Given the description of an element on the screen output the (x, y) to click on. 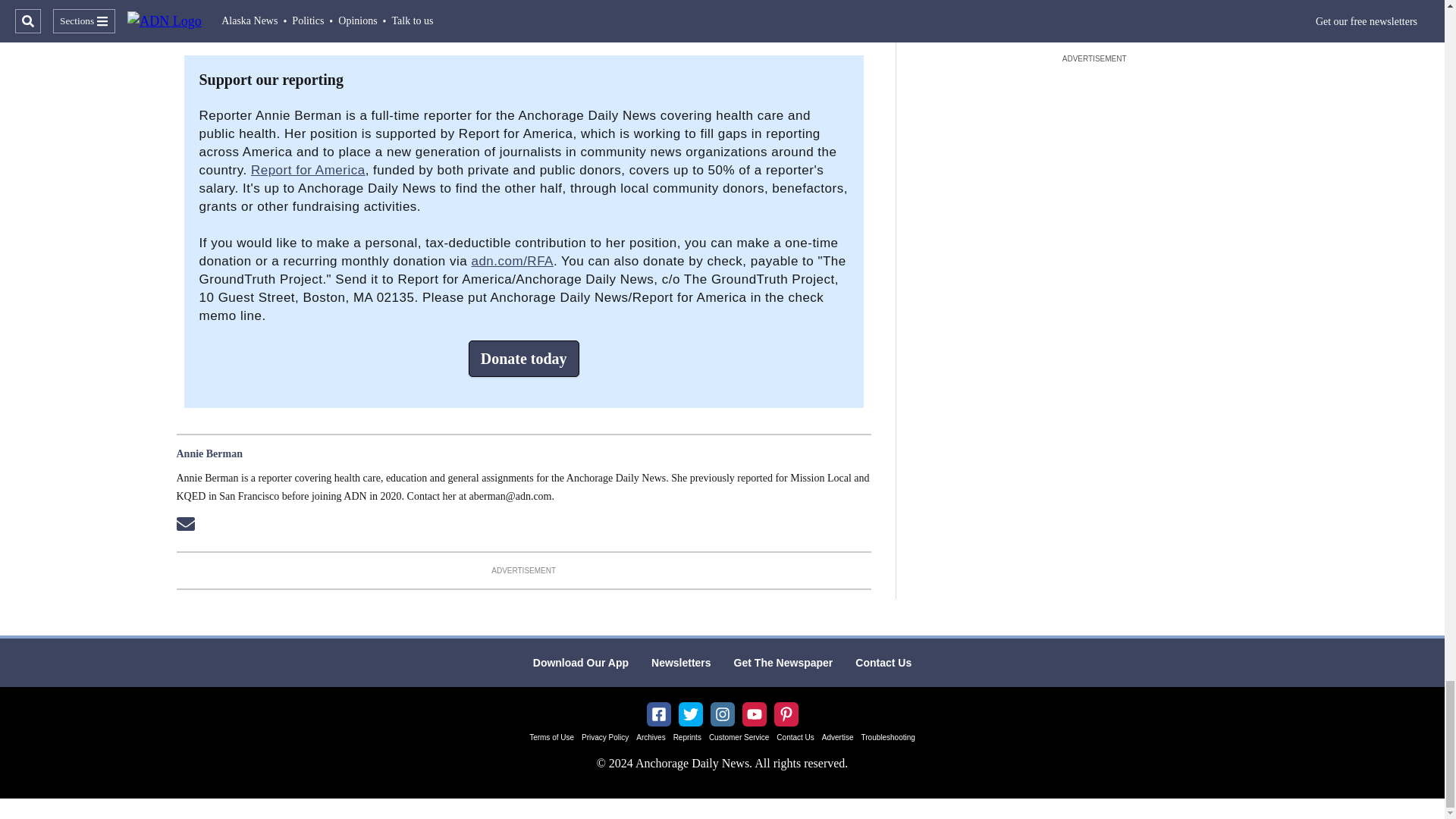
PinterestAnchorage Daily News Pinterest Account (785, 713)
YouTube iconAnchorage Daily News YouTube channel (753, 713)
Facebook IconAnchorage Daily News Facebook Page (657, 713)
Twitter IconTwitter Account for Anchorage Daily News (689, 713)
Instagram IconAnchorage Daily News instagram account (721, 713)
